Given the description of an element on the screen output the (x, y) to click on. 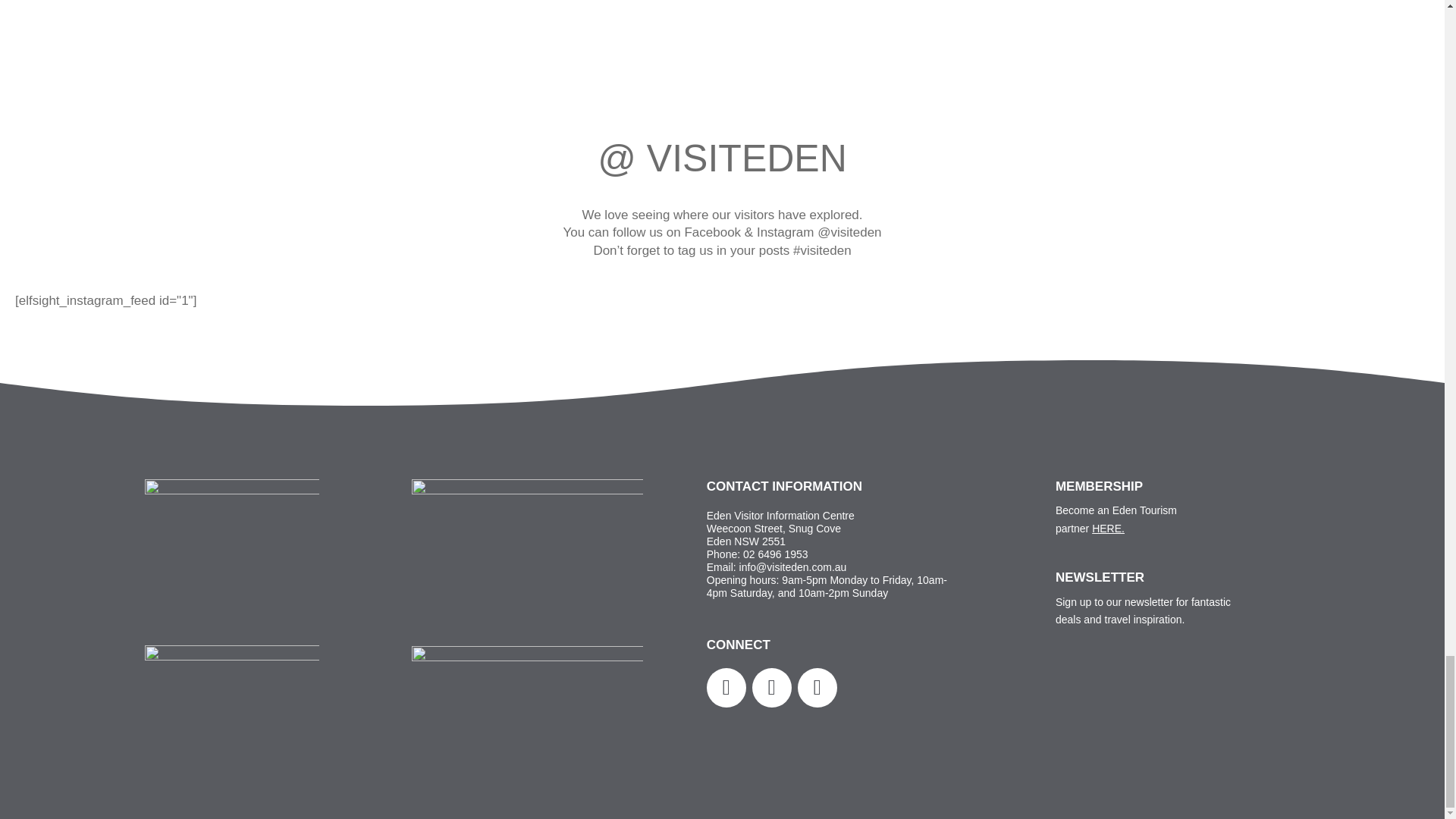
Quality-Tourism-logo (231, 687)
Follow on Facebook (772, 687)
Follow on LinkedIn (817, 687)
footer-logo (231, 549)
Follow on Instagram (725, 687)
NSW-top-tourism-town-awards-2023-silver (527, 547)
NSW-tourism-awards-2023-bronze (527, 711)
